Given the description of an element on the screen output the (x, y) to click on. 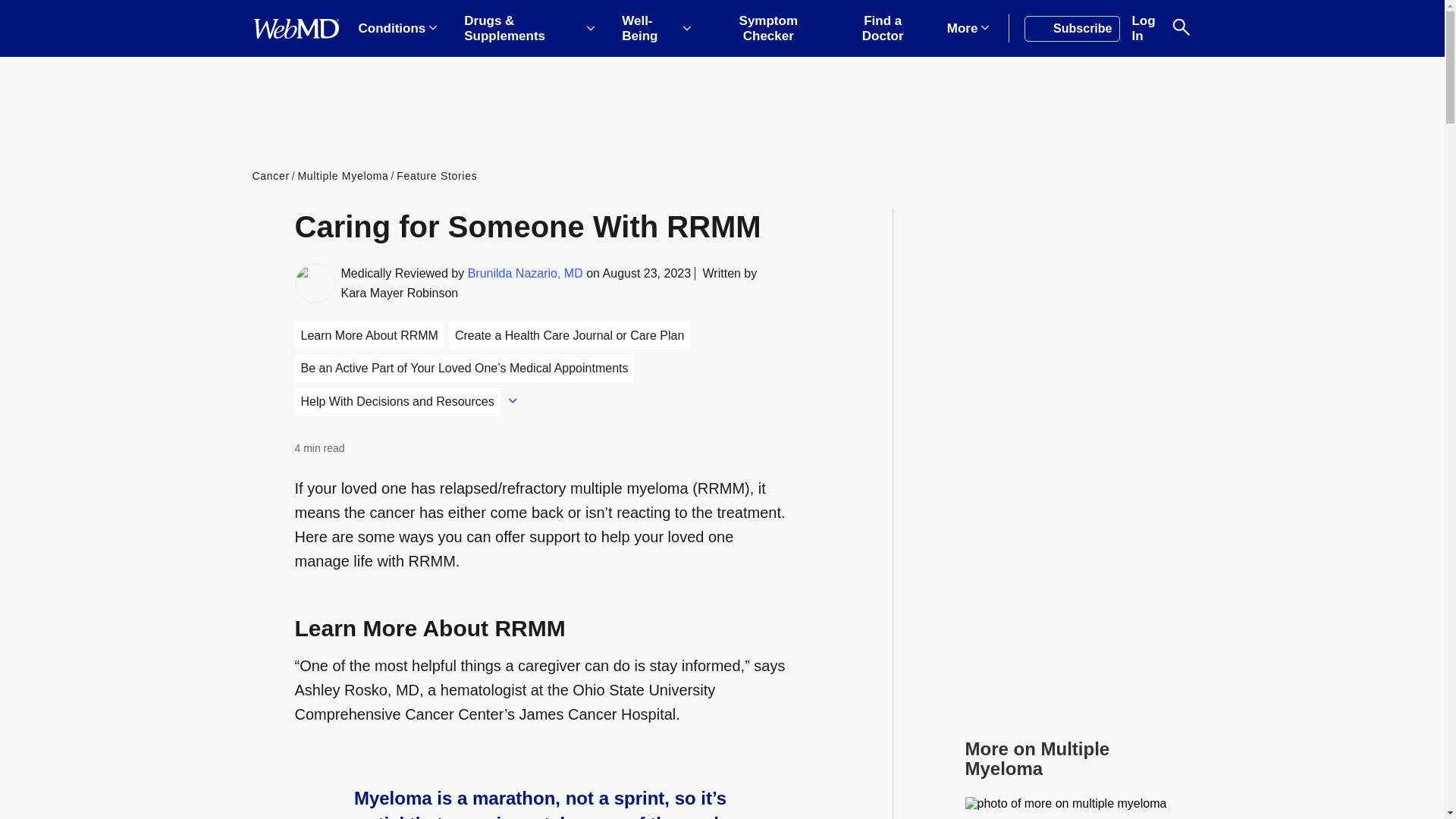
Conditions (397, 28)
